Given the description of an element on the screen output the (x, y) to click on. 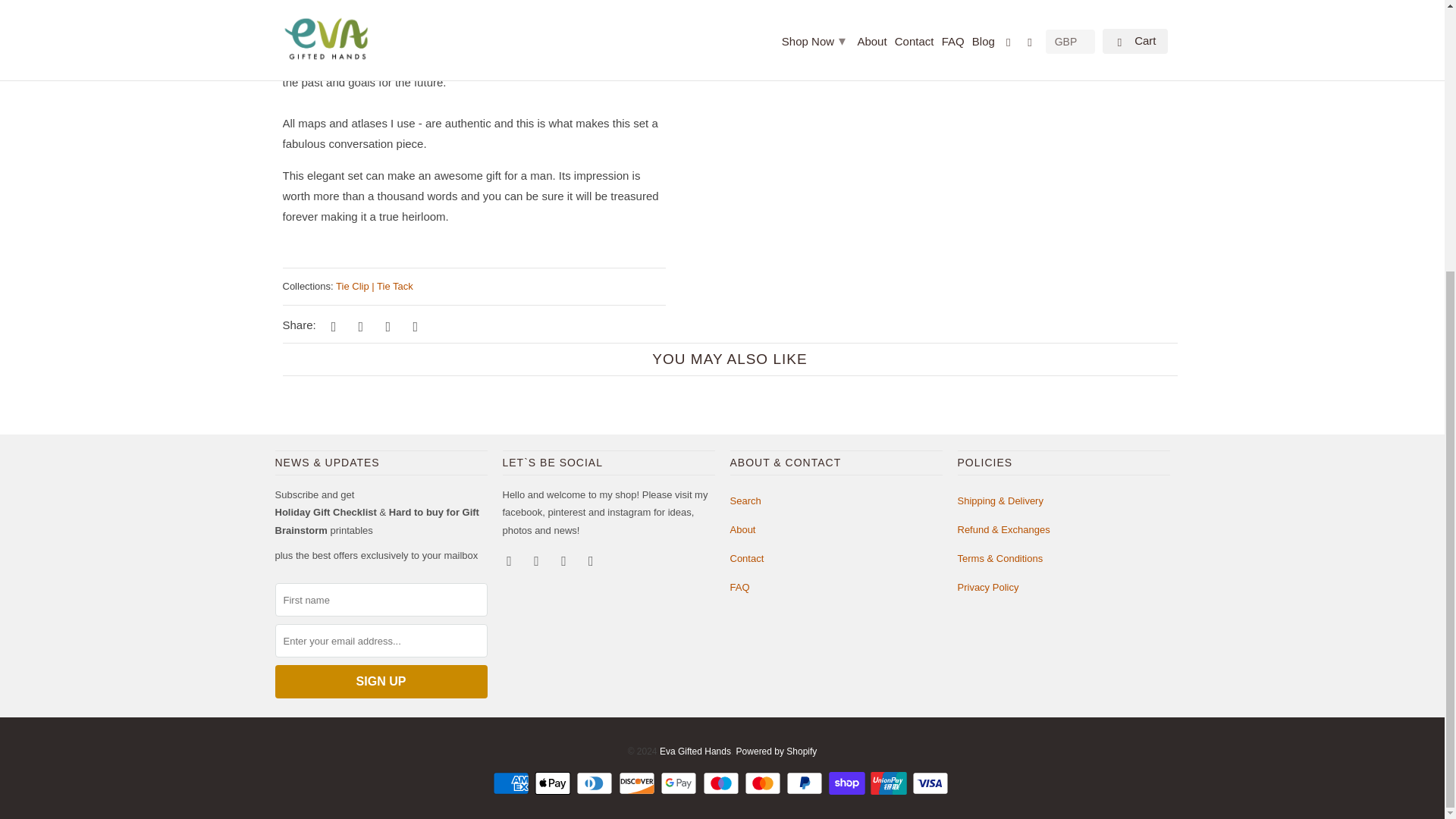
Shop Pay (847, 783)
Diners Club (595, 783)
Maestro (721, 783)
Apple Pay (553, 783)
Union Pay (890, 783)
Visa (932, 783)
Sign Up (380, 681)
Discover (638, 783)
Mastercard (764, 783)
PayPal (805, 783)
American Express (512, 783)
Google Pay (680, 783)
